Given the description of an element on the screen output the (x, y) to click on. 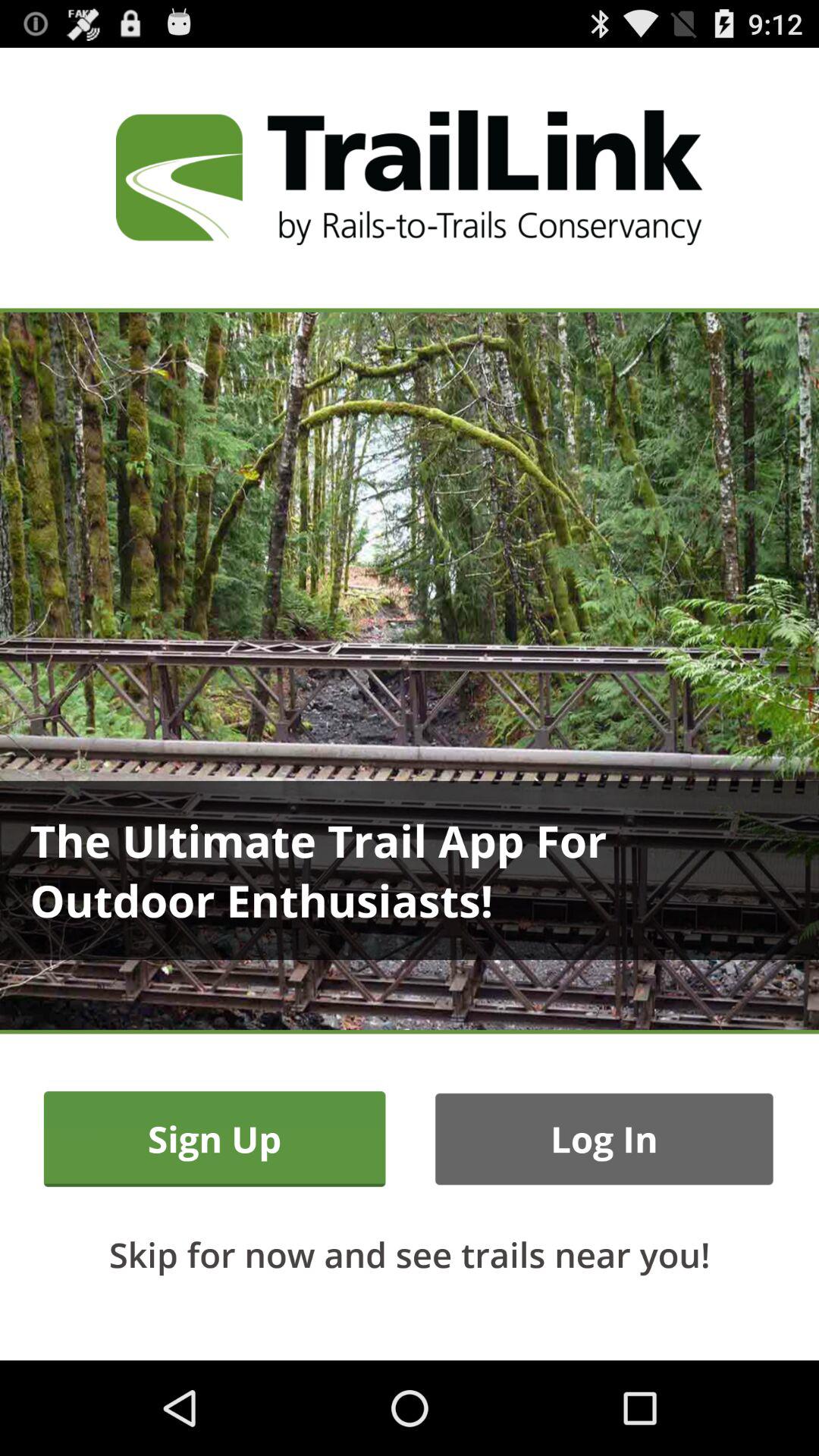
press the sign up item (214, 1138)
